Given the description of an element on the screen output the (x, y) to click on. 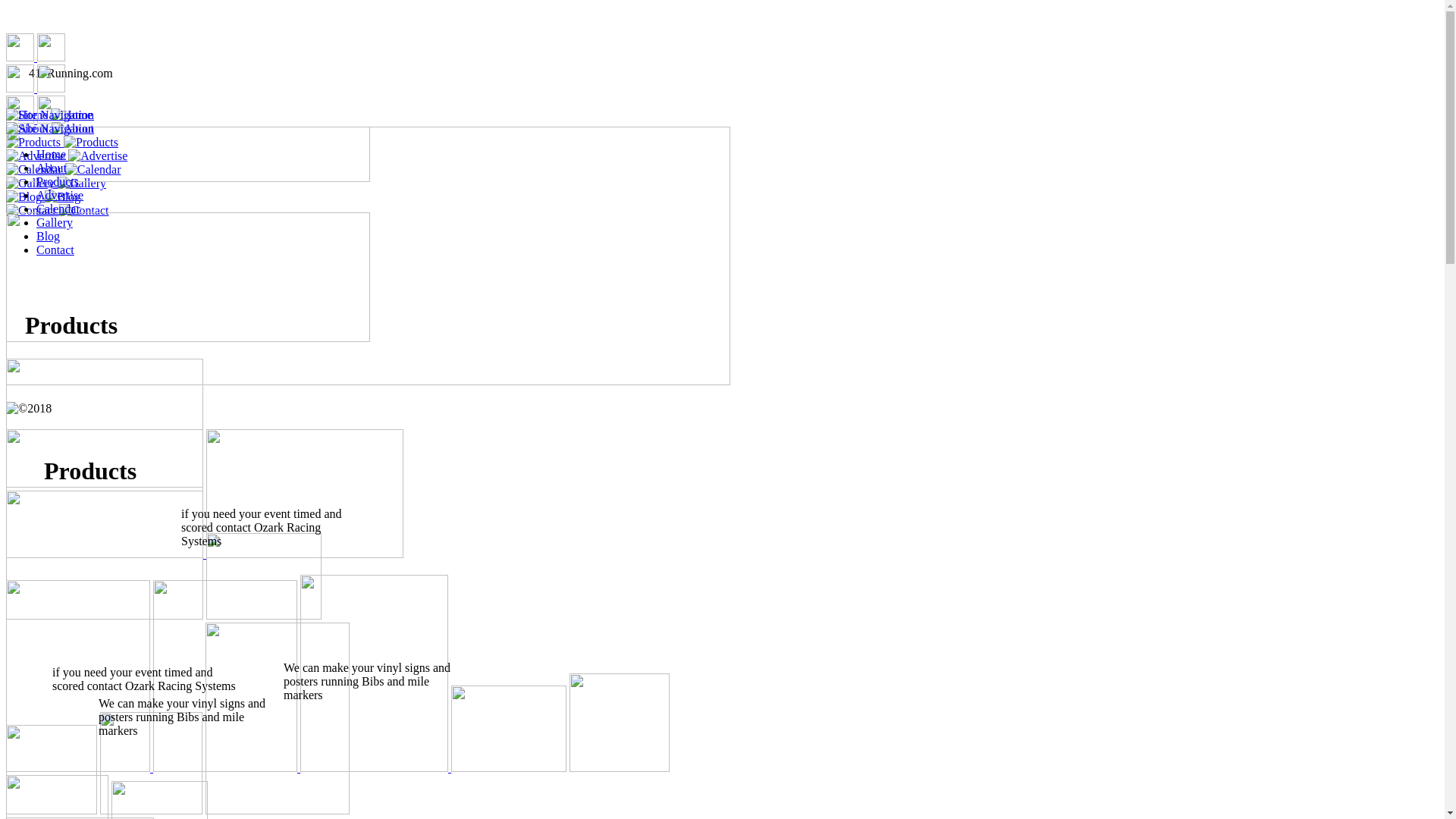
Calendar Element type: text (58, 208)
About Element type: text (51, 167)
Products Element type: text (57, 181)
Home Element type: text (50, 153)
Contact Element type: text (55, 249)
Gallery Element type: text (54, 222)
Blog Element type: text (47, 235)
Advertise Element type: text (59, 194)
